Given the description of an element on the screen output the (x, y) to click on. 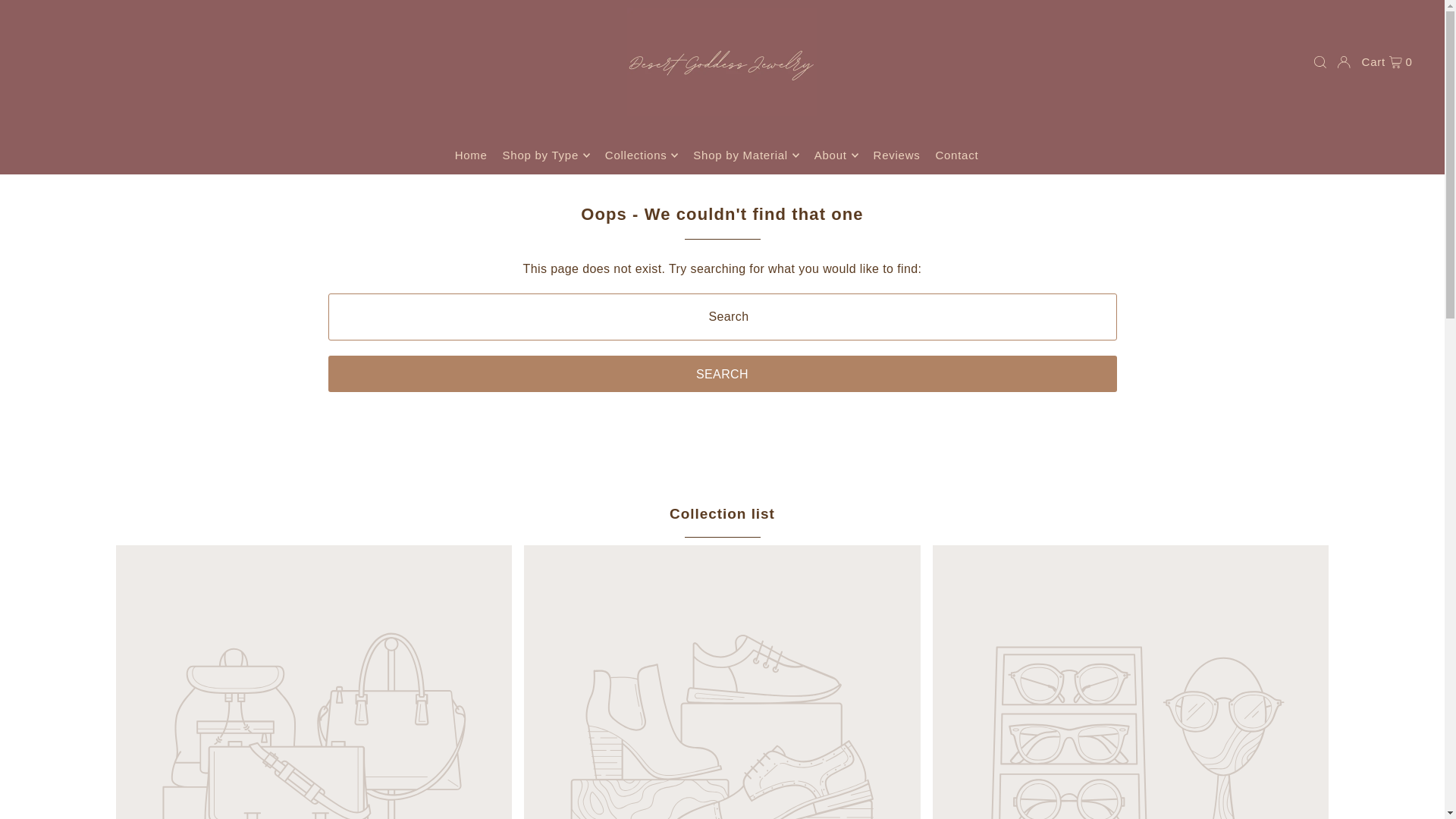
Collection image (313, 682)
Shop by Type (545, 155)
Collections (641, 155)
Cart (1386, 61)
Collection image (722, 682)
Search (721, 373)
Collection image (1131, 682)
